Given the description of an element on the screen output the (x, y) to click on. 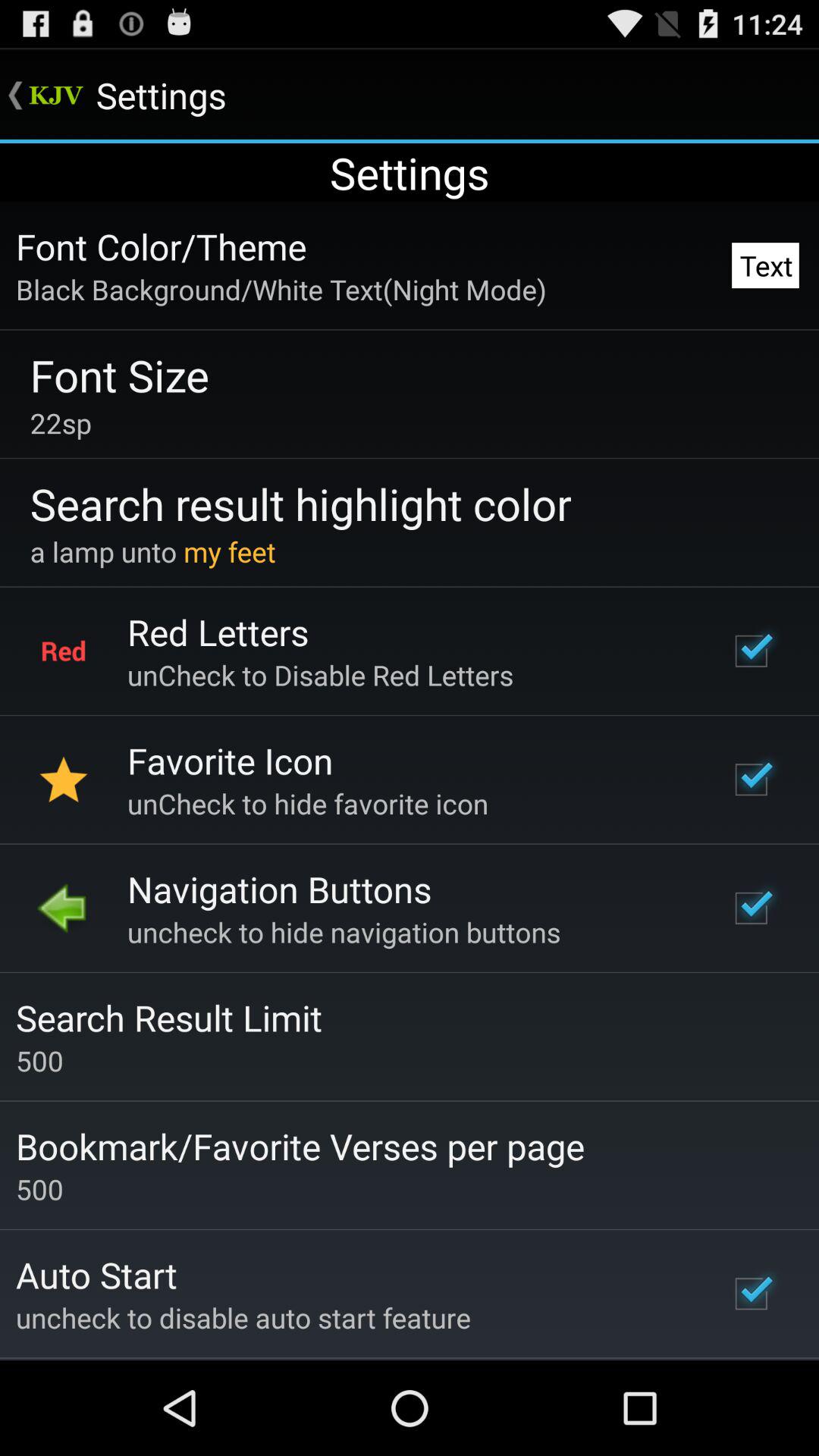
select item next to text app (160, 246)
